Given the description of an element on the screen output the (x, y) to click on. 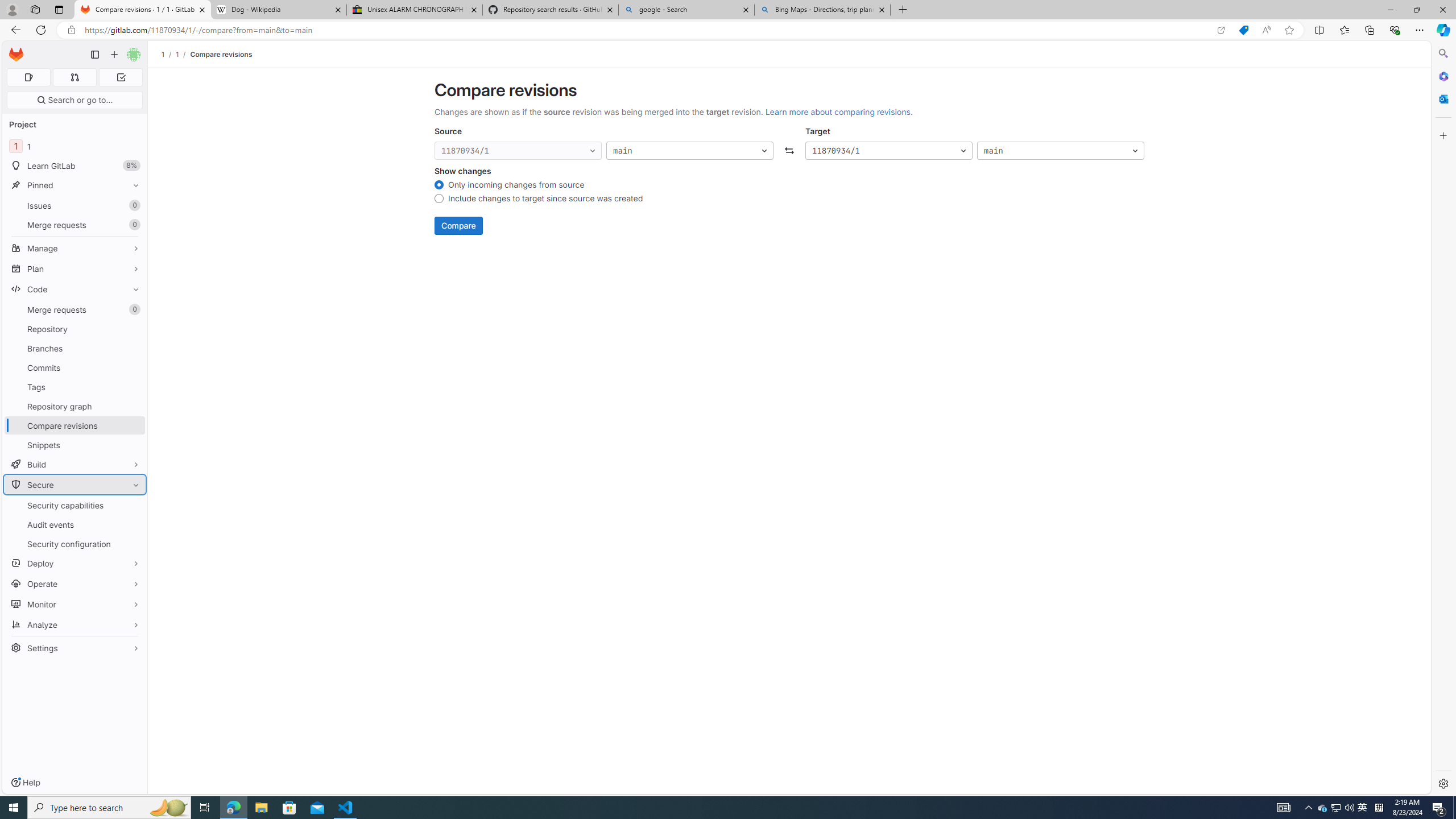
11870934/1 (888, 150)
Repository (74, 328)
Compare revisions (220, 53)
Only incoming changes from source (438, 186)
Create new... (113, 54)
Analyze (74, 624)
Audit events (74, 524)
Pin Tags (132, 386)
